Given the description of an element on the screen output the (x, y) to click on. 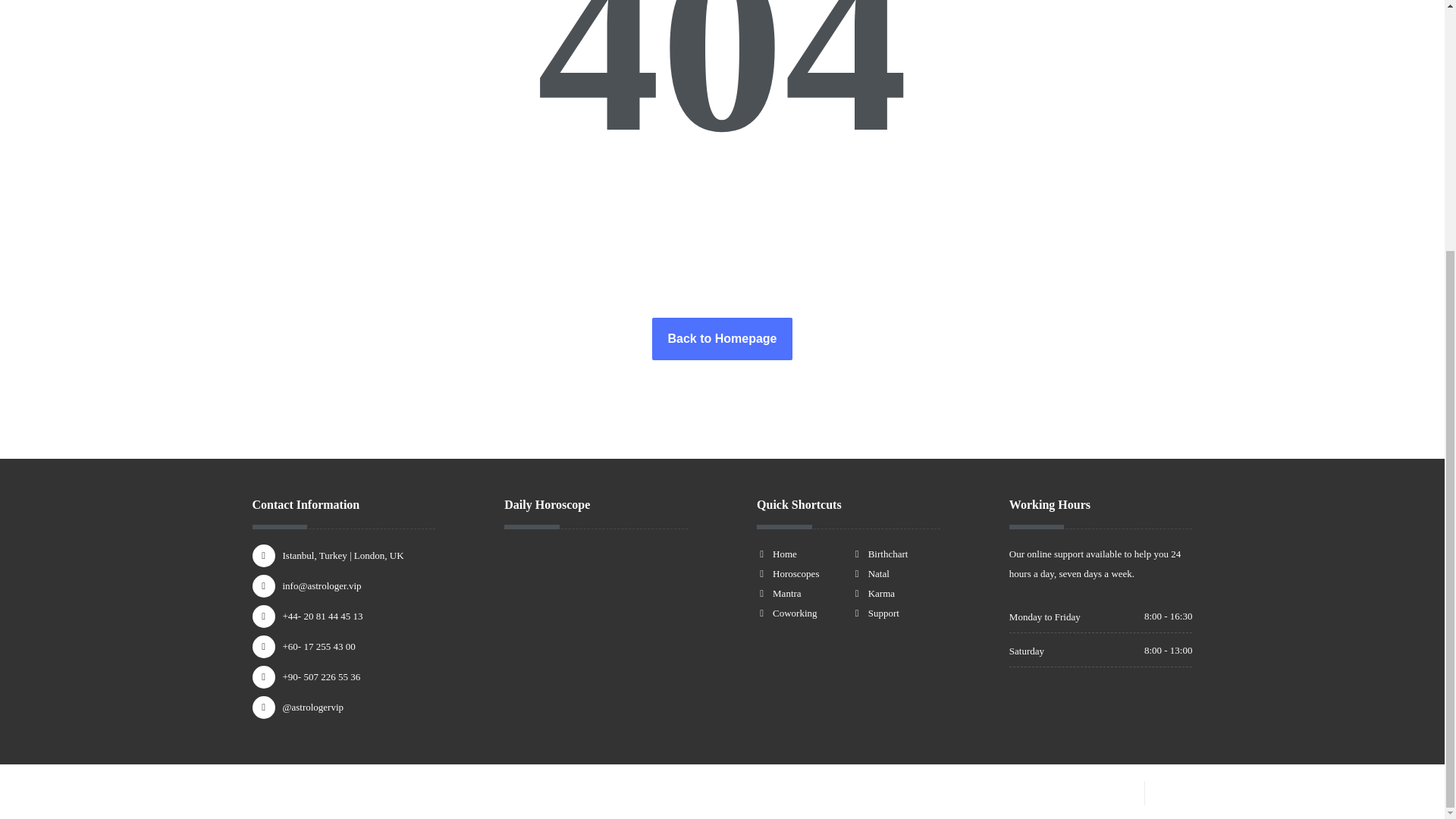
Privacy Policy (1098, 790)
Horoscopes (787, 573)
Karma (873, 593)
Back to Homepage (722, 338)
Mantra (779, 593)
Contact Us (1184, 790)
Home (776, 553)
Natal (870, 573)
Support (875, 613)
Coworking (786, 613)
